Given the description of an element on the screen output the (x, y) to click on. 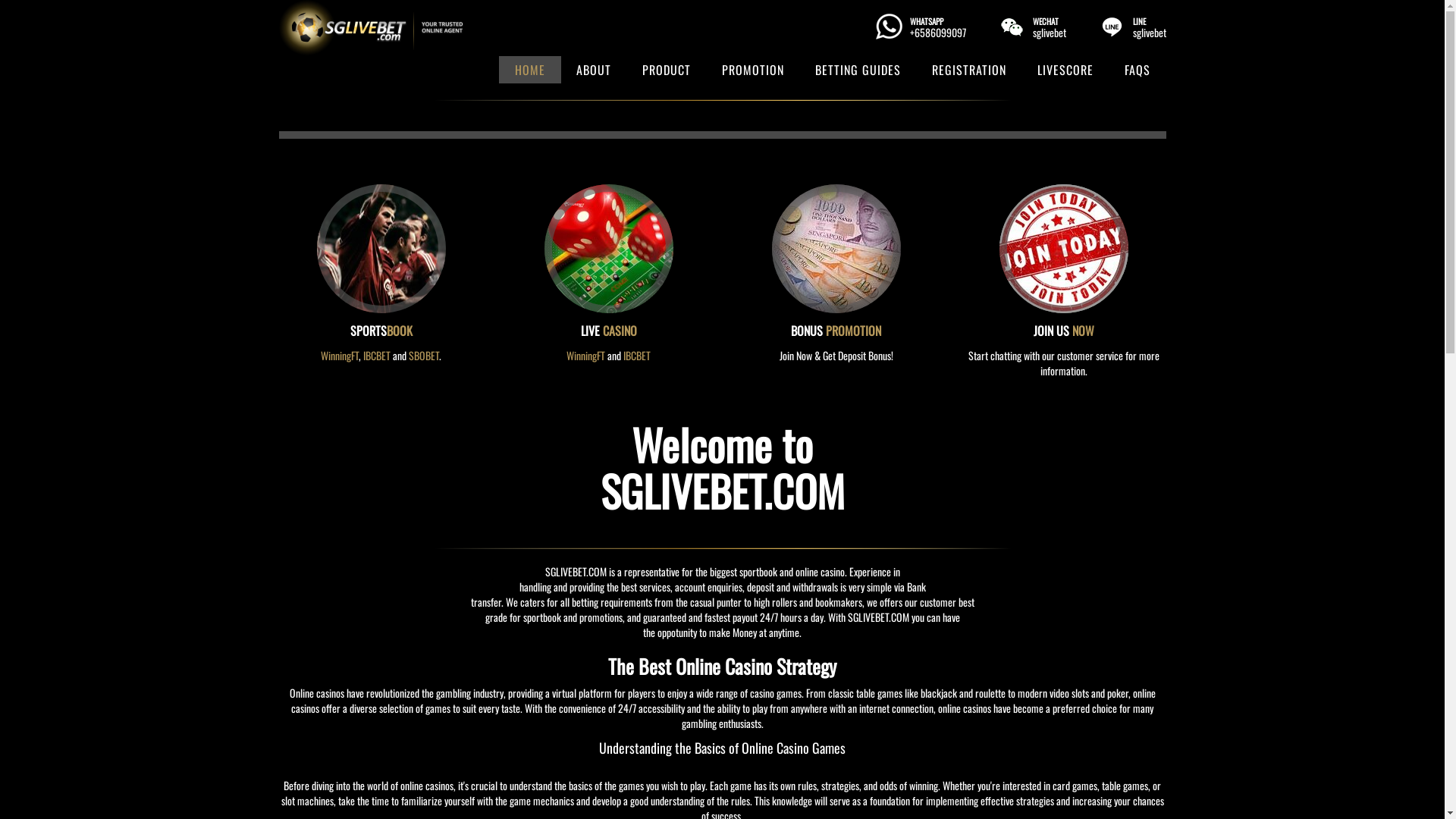
Trusted Online Agent Element type: hover (371, 28)
FAQS Element type: text (1137, 69)
WinningFT Element type: text (339, 355)
ABOUT Element type: text (592, 69)
IBCBET Element type: text (636, 355)
BETTING GUIDES Element type: text (857, 69)
WinningFT Element type: text (585, 355)
PROMOTION Element type: text (752, 69)
HOME Element type: text (529, 69)
LIVE CASINO Element type: text (608, 330)
SPORTSBOOK Element type: text (381, 330)
IBCBET Element type: text (376, 355)
LIVESCORE Element type: text (1064, 69)
PRODUCT Element type: text (666, 69)
BONUS PROMOTION Element type: text (835, 330)
REGISTRATION Element type: text (969, 69)
SBOBET Element type: text (423, 355)
